Given the description of an element on the screen output the (x, y) to click on. 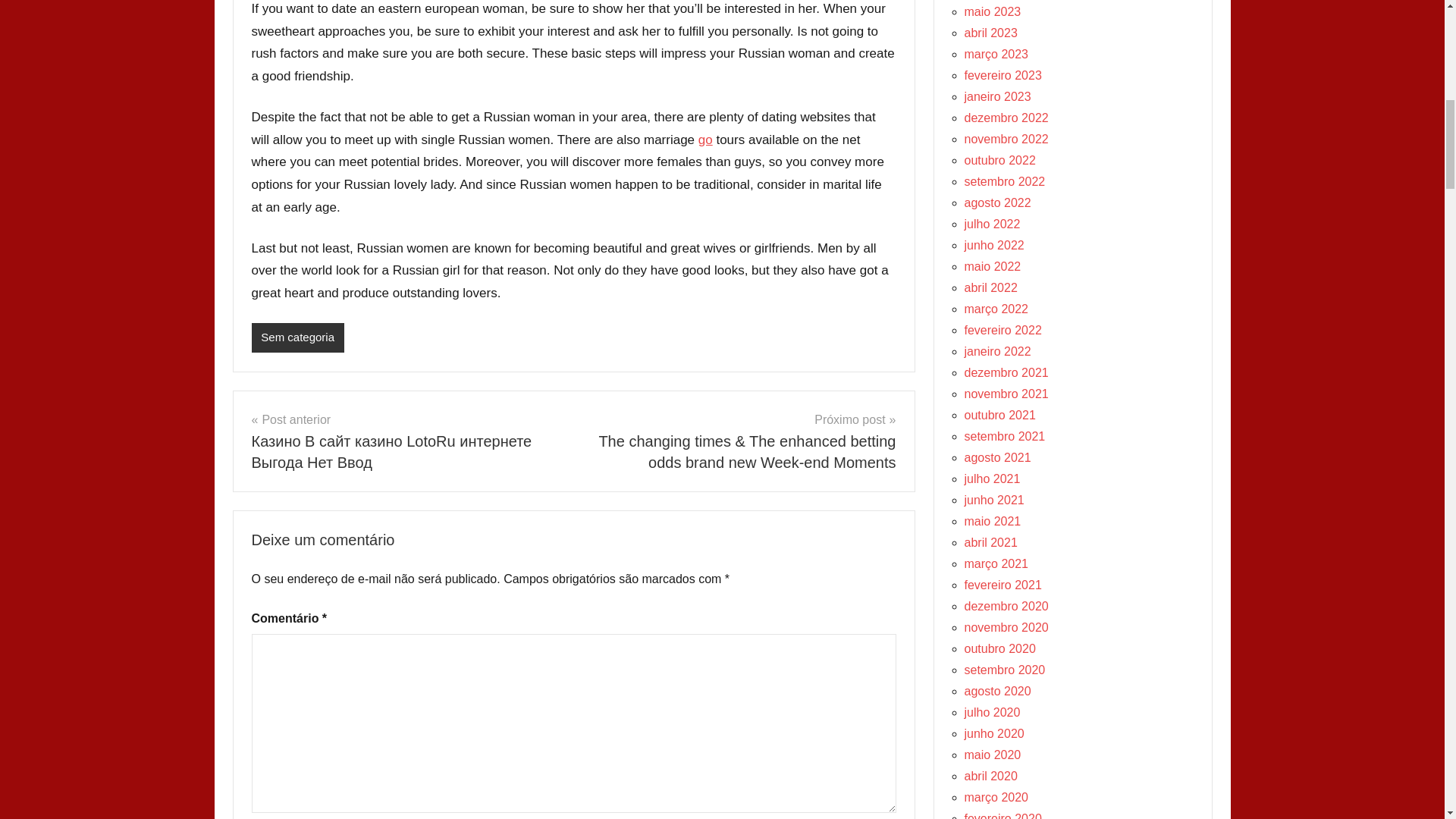
go (705, 139)
Sem categoria (297, 337)
